Given the description of an element on the screen output the (x, y) to click on. 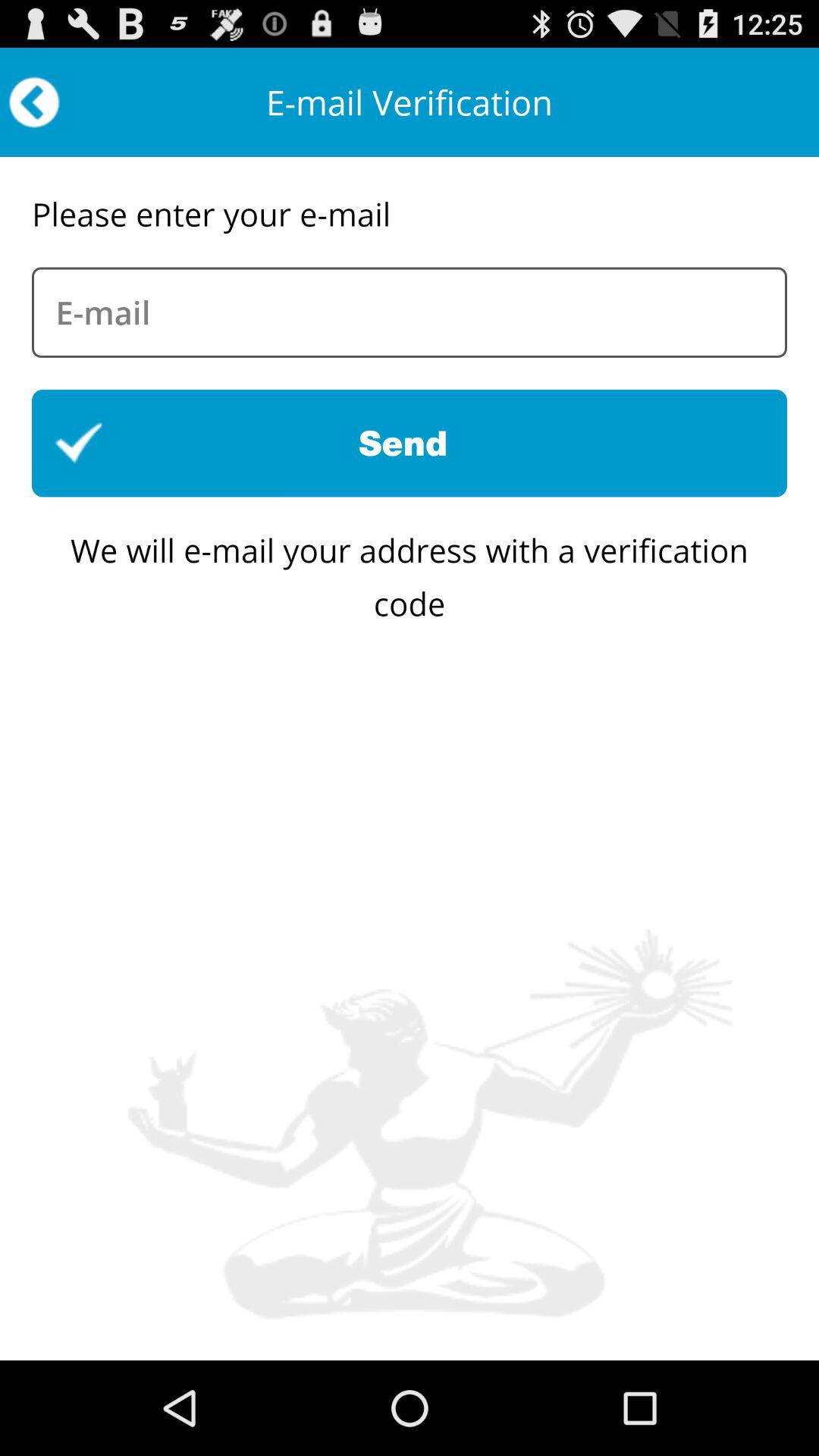
enter email (409, 312)
